Given the description of an element on the screen output the (x, y) to click on. 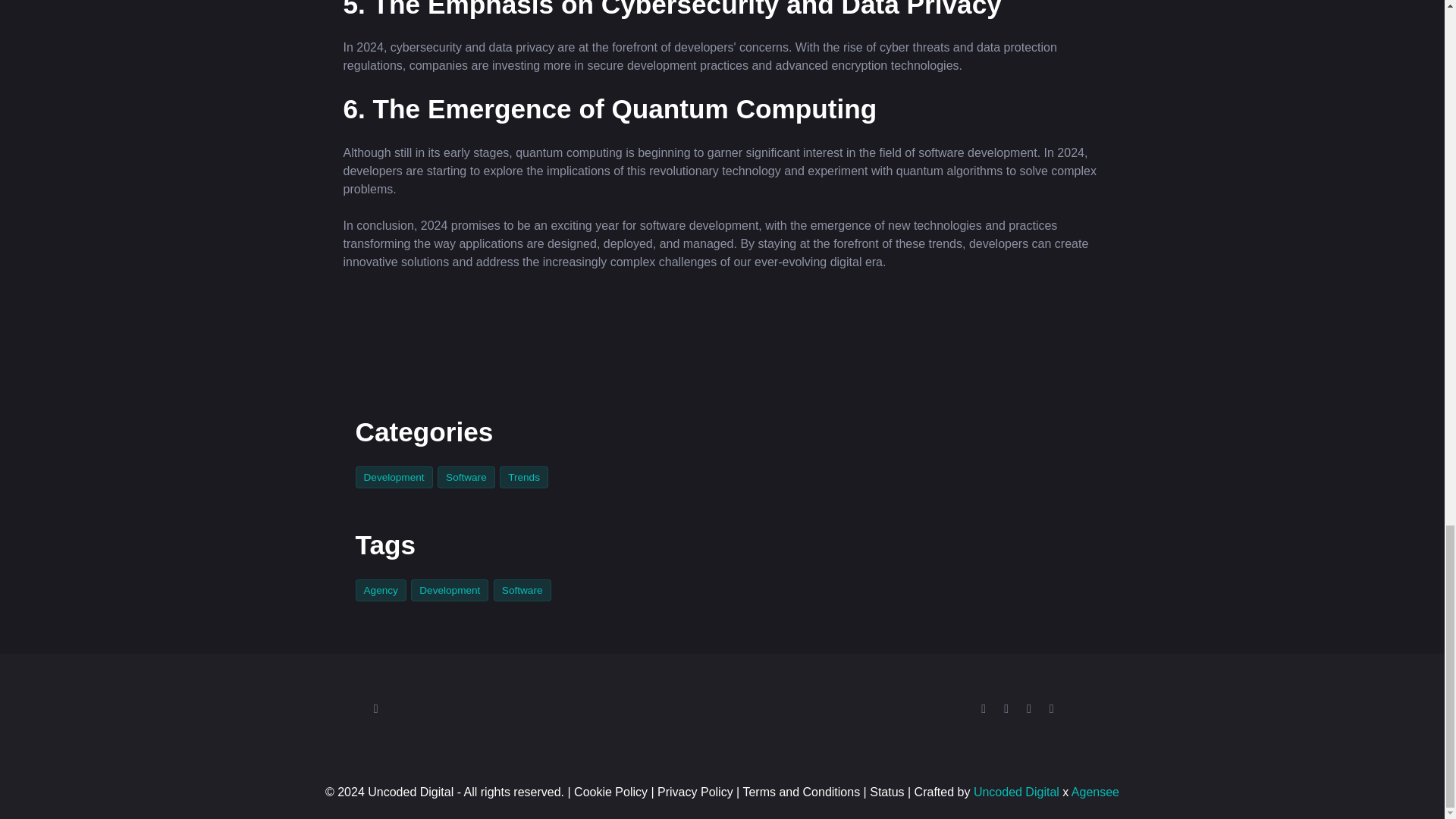
Development (451, 589)
Trends (524, 476)
Software (468, 476)
09 83 83 90 90 (420, 709)
Development (396, 476)
Agency (382, 589)
Software (523, 589)
